Given the description of an element on the screen output the (x, y) to click on. 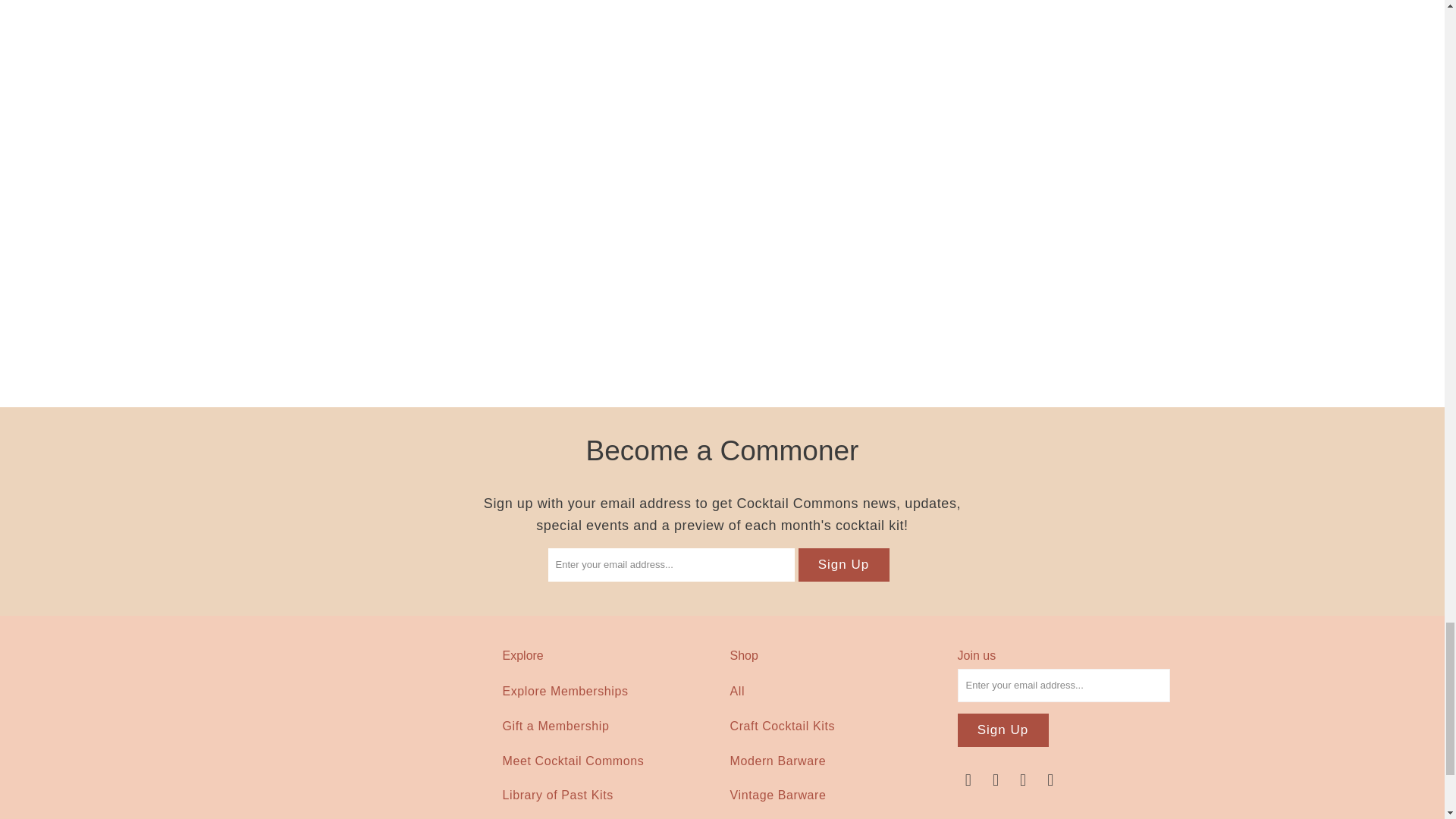
Cocktail Commons on Pinterest (996, 780)
Sign Up (1002, 729)
Sign Up (842, 564)
Cocktail Commons on Facebook (967, 780)
Cocktail Commons on Instagram (1023, 780)
Email Cocktail Commons (1050, 780)
